Given the description of an element on the screen output the (x, y) to click on. 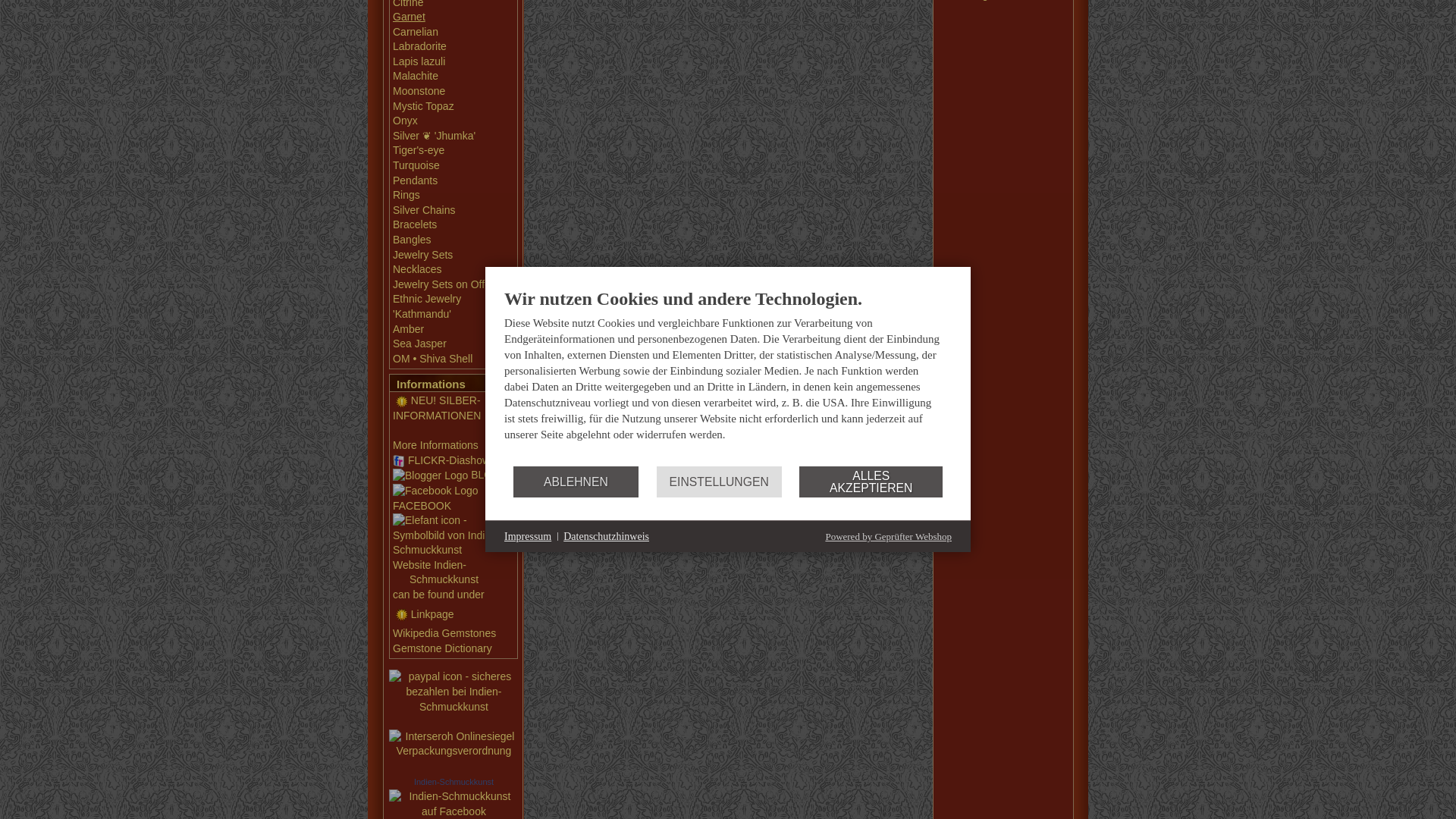
Turquoise (416, 164)
Rings (406, 194)
Onyx (405, 120)
Citrine (408, 3)
Mystic Topaz (423, 105)
Moonstone (419, 91)
Carnelian (415, 31)
Silver Chains (423, 209)
Garnet (409, 16)
Tiger's-eye (418, 150)
Labradorite (419, 46)
Lapis lazuli (419, 61)
Malachite (415, 75)
Pendants (415, 180)
